Given the description of an element on the screen output the (x, y) to click on. 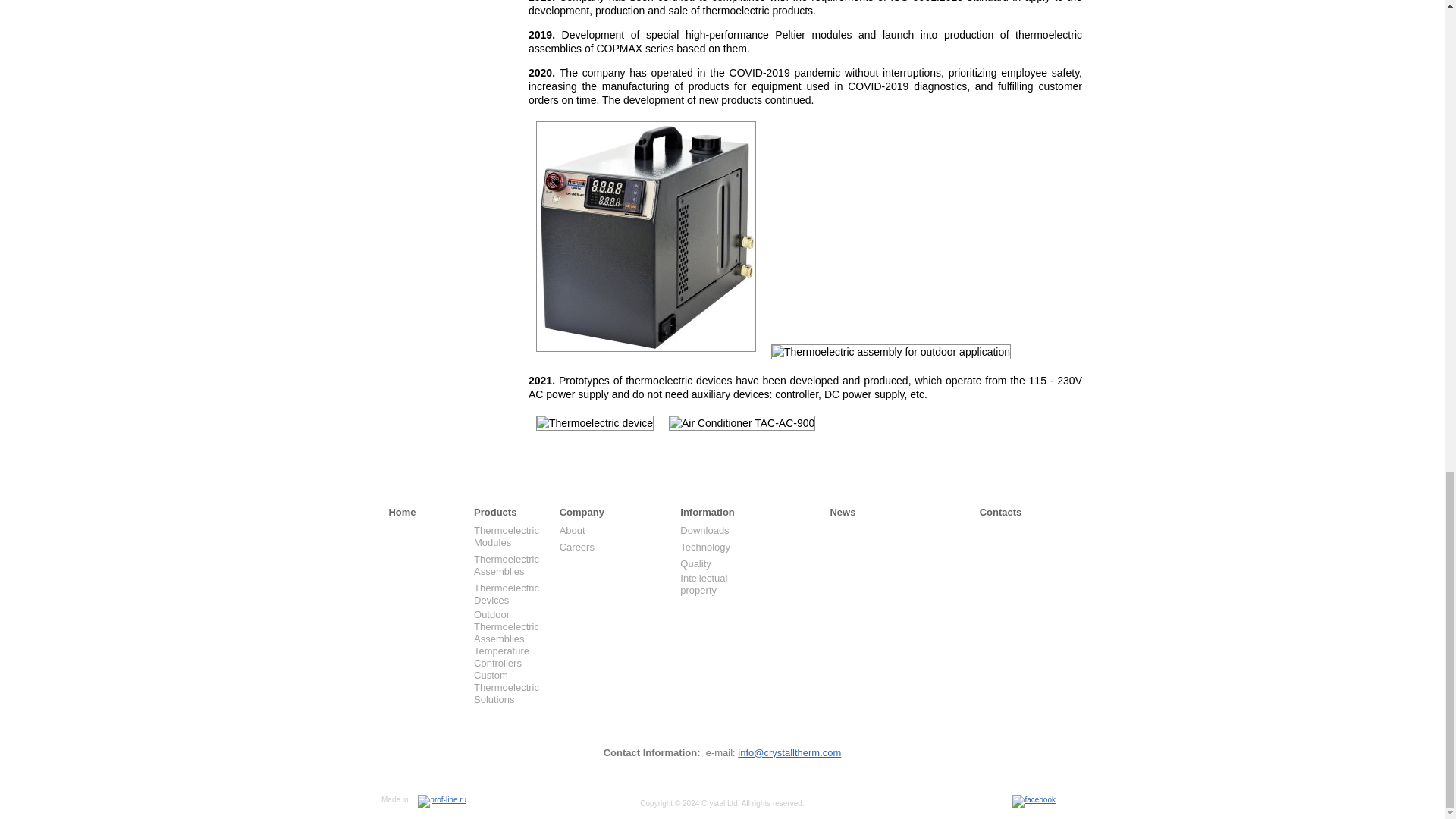
prof-line.ru (441, 801)
Air Conditioner TAC-AC-900 (741, 422)
Thermoelectric device (594, 422)
Thermoelectric assembly for outdoor application (890, 351)
Follow Us on Facebook (1033, 801)
Thermoelectric chiller (645, 236)
